Given the description of an element on the screen output the (x, y) to click on. 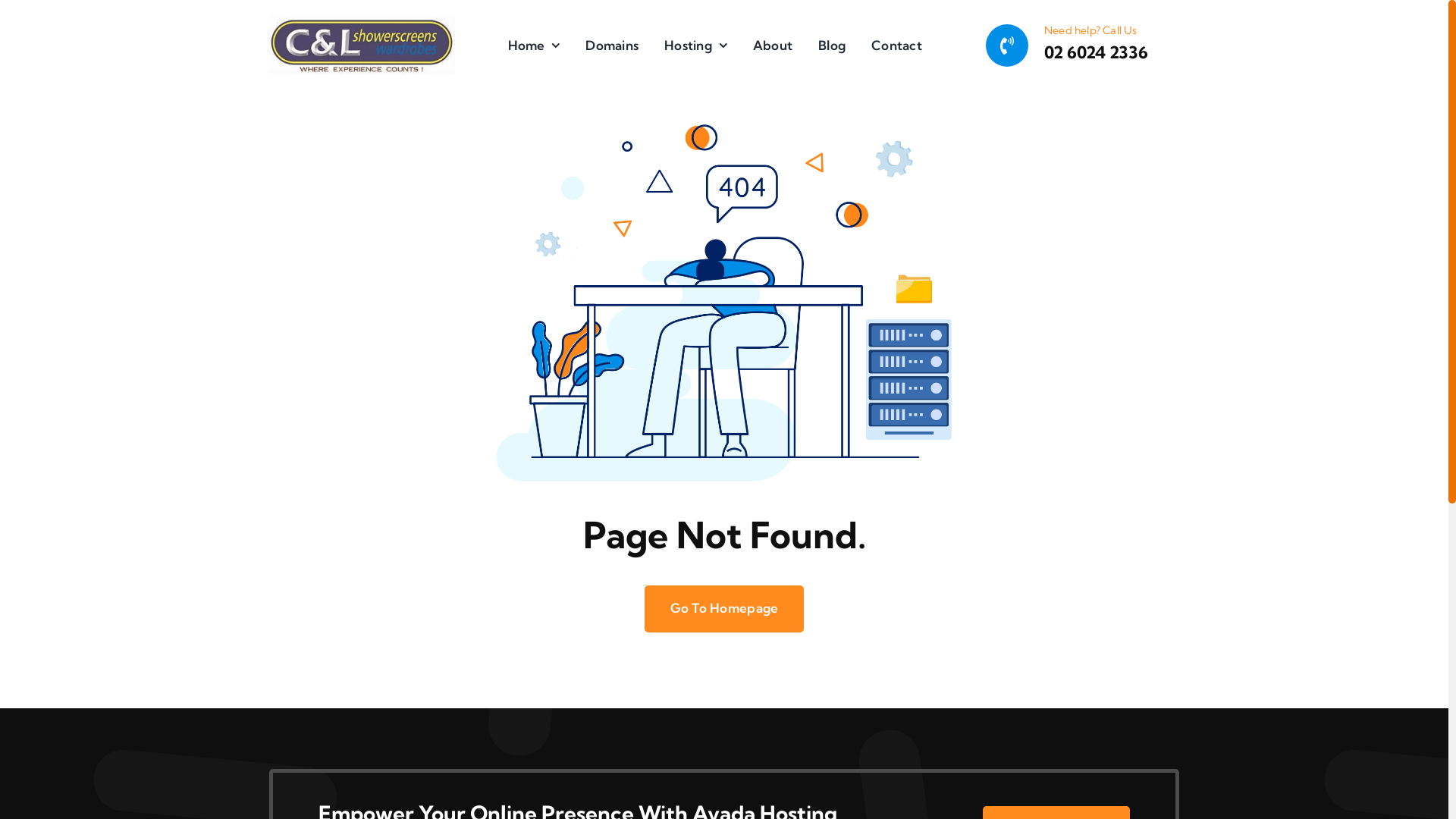
Go To Homepage Element type: text (724, 608)
404 Error Element type: hover (723, 300)
Domains Element type: text (611, 45)
About Element type: text (772, 45)
Blog Element type: text (831, 45)
Home Element type: text (534, 45)
Hosting Element type: text (695, 45)
Contact Element type: text (896, 45)
